Given the description of an element on the screen output the (x, y) to click on. 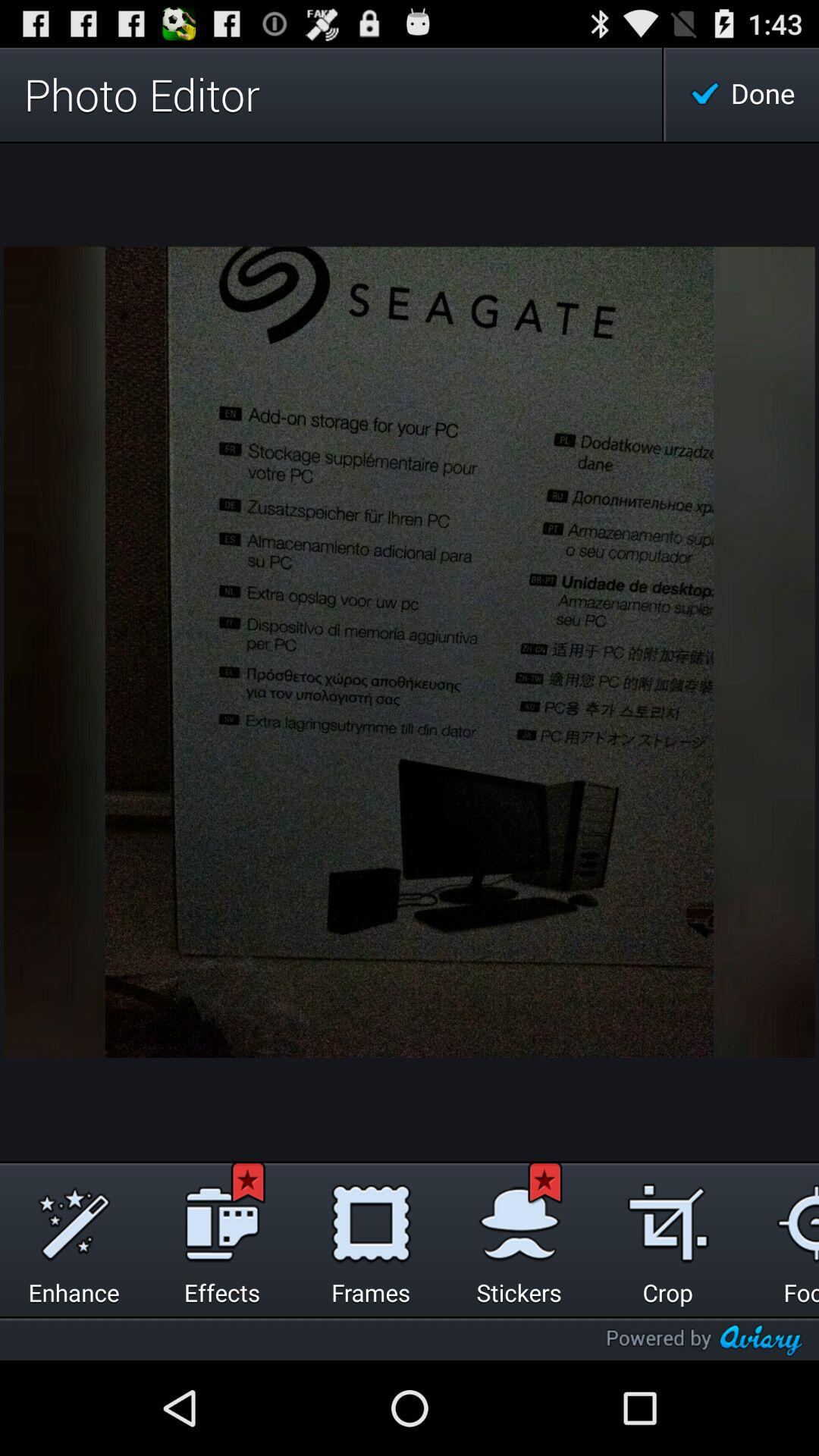
turn on the icon below the crop icon (704, 1340)
